Given the description of an element on the screen output the (x, y) to click on. 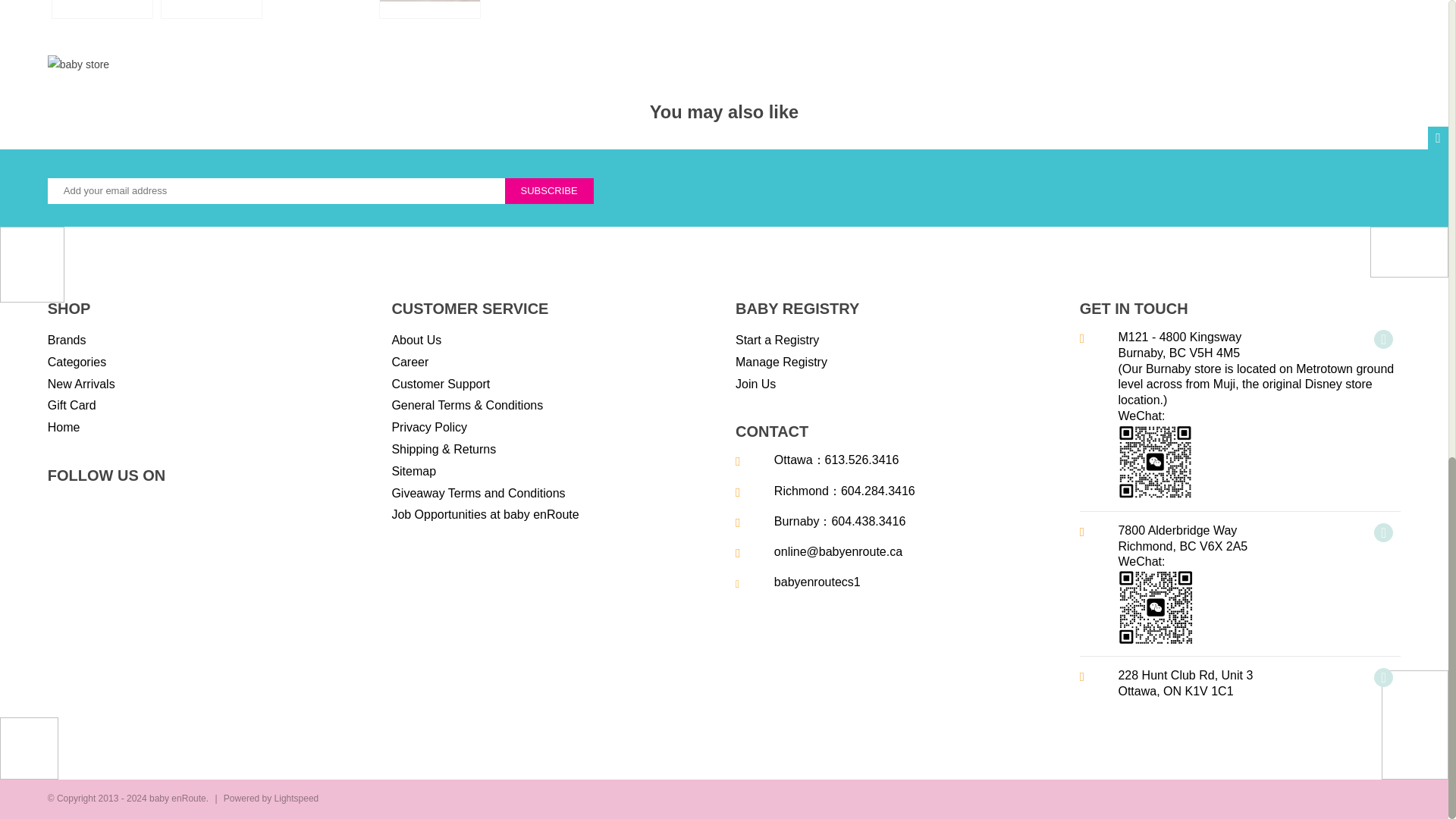
Categories (77, 362)
Brands (66, 341)
New Arrivals (81, 384)
